Given the description of an element on the screen output the (x, y) to click on. 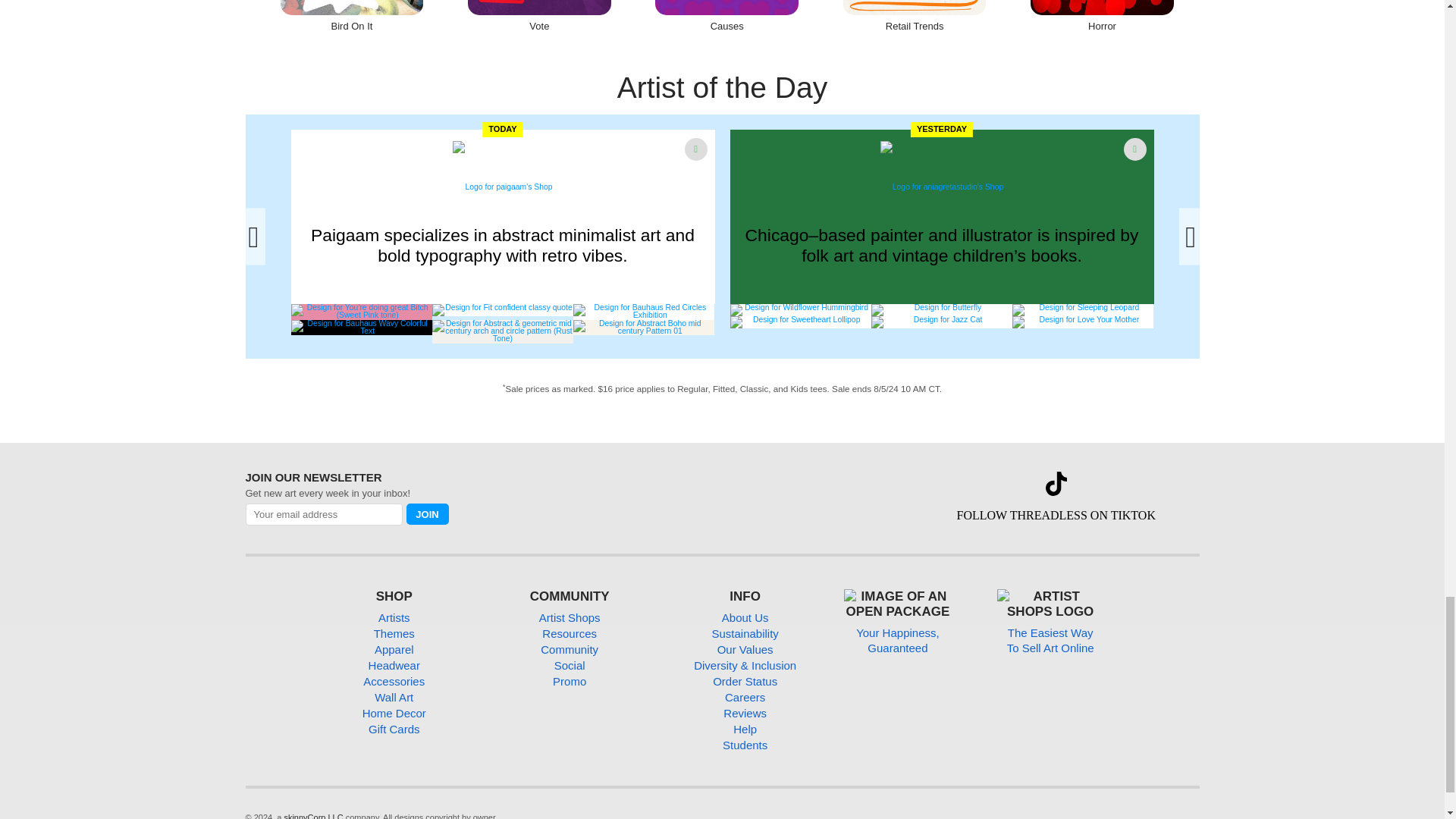
on (248, 529)
Join (427, 513)
